Given the description of an element on the screen output the (x, y) to click on. 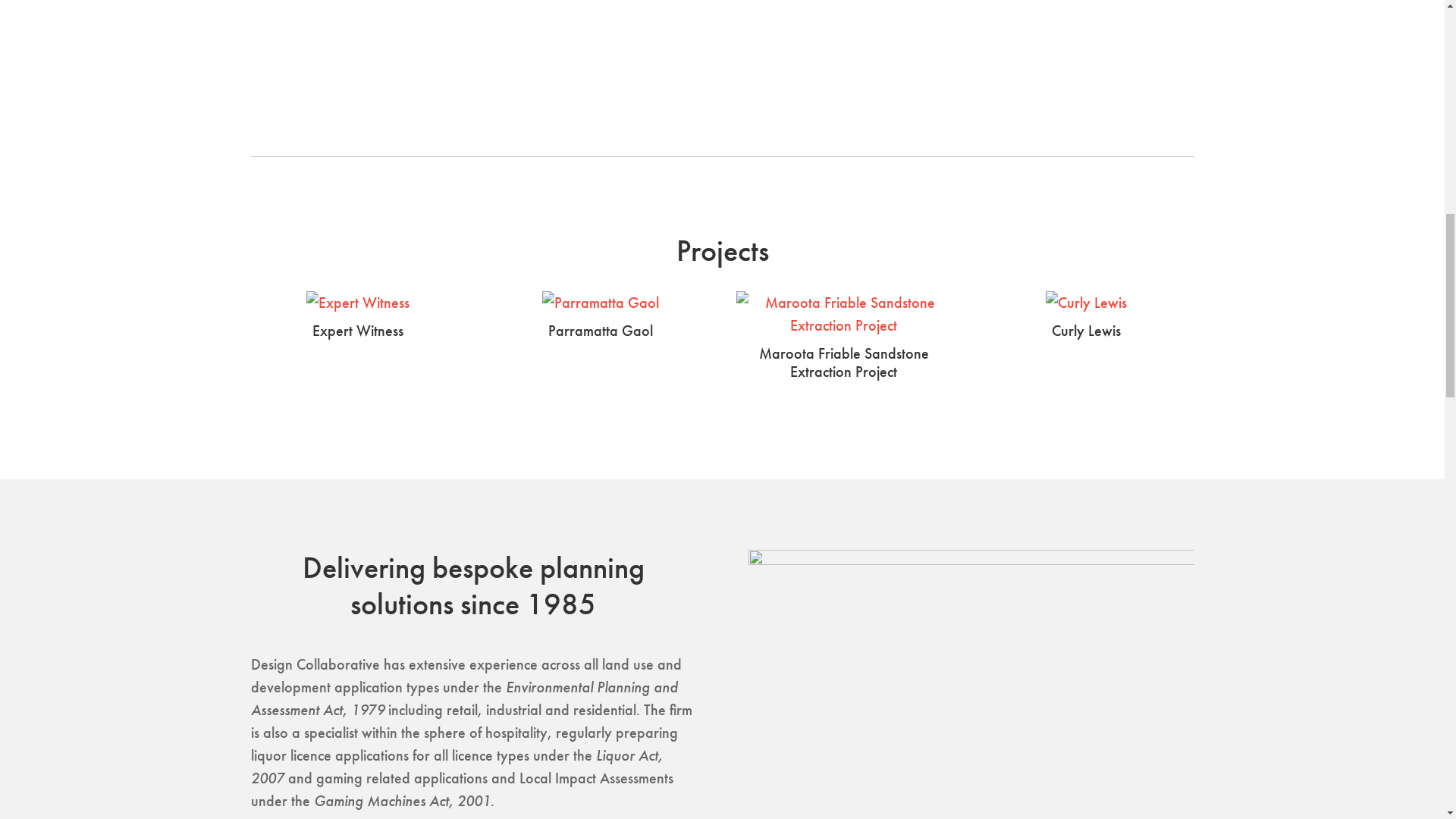
About Element type: text (1103, 35)
Services Element type: text (969, 35)
Our Team Element type: text (890, 35)
Home Element type: text (820, 35)
Contact Element type: text (1168, 35)
Projects Element type: text (1039, 35)
